Given the description of an element on the screen output the (x, y) to click on. 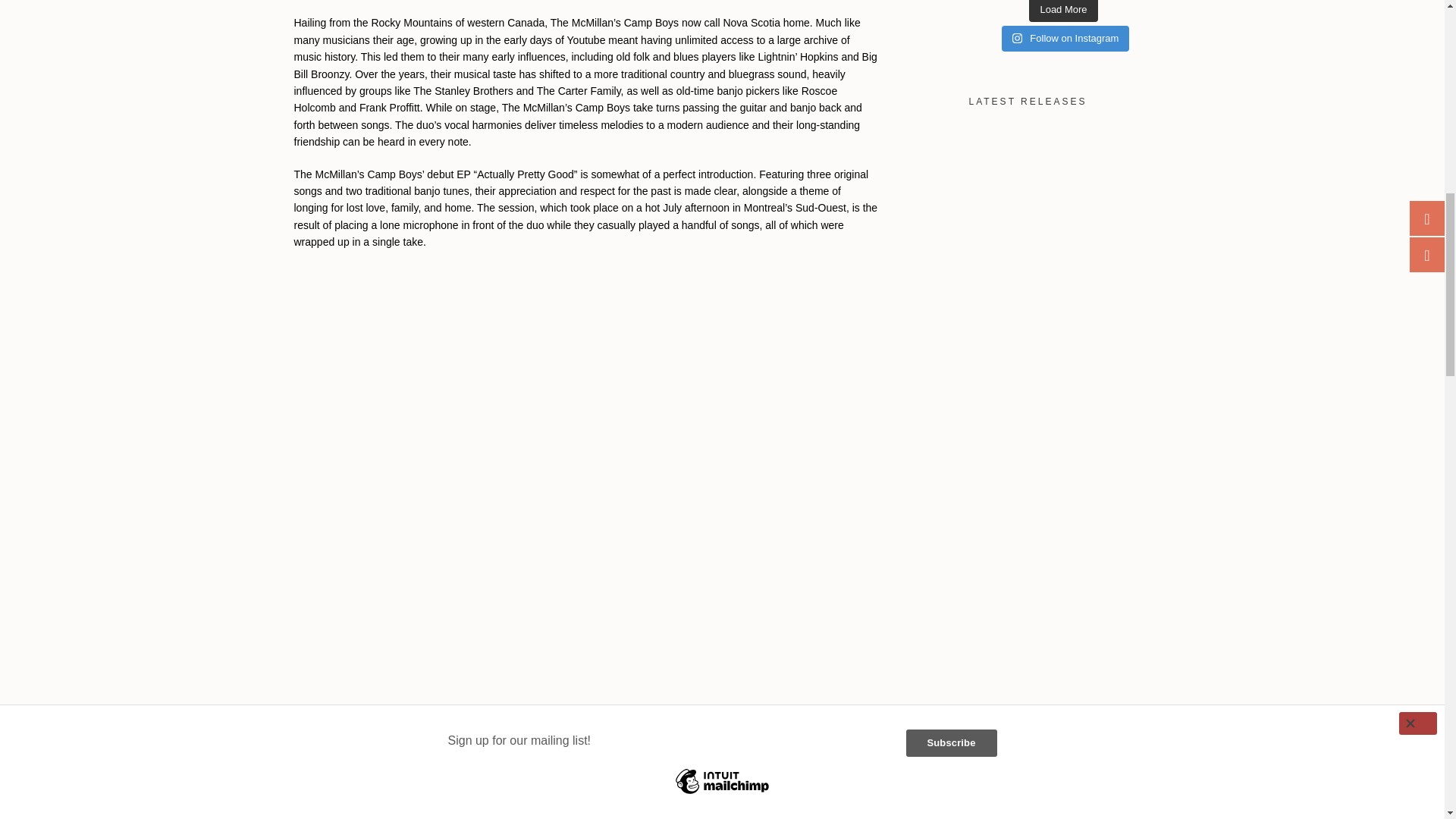
Follow on Instagram (1065, 38)
Load More (1063, 11)
